Given the description of an element on the screen output the (x, y) to click on. 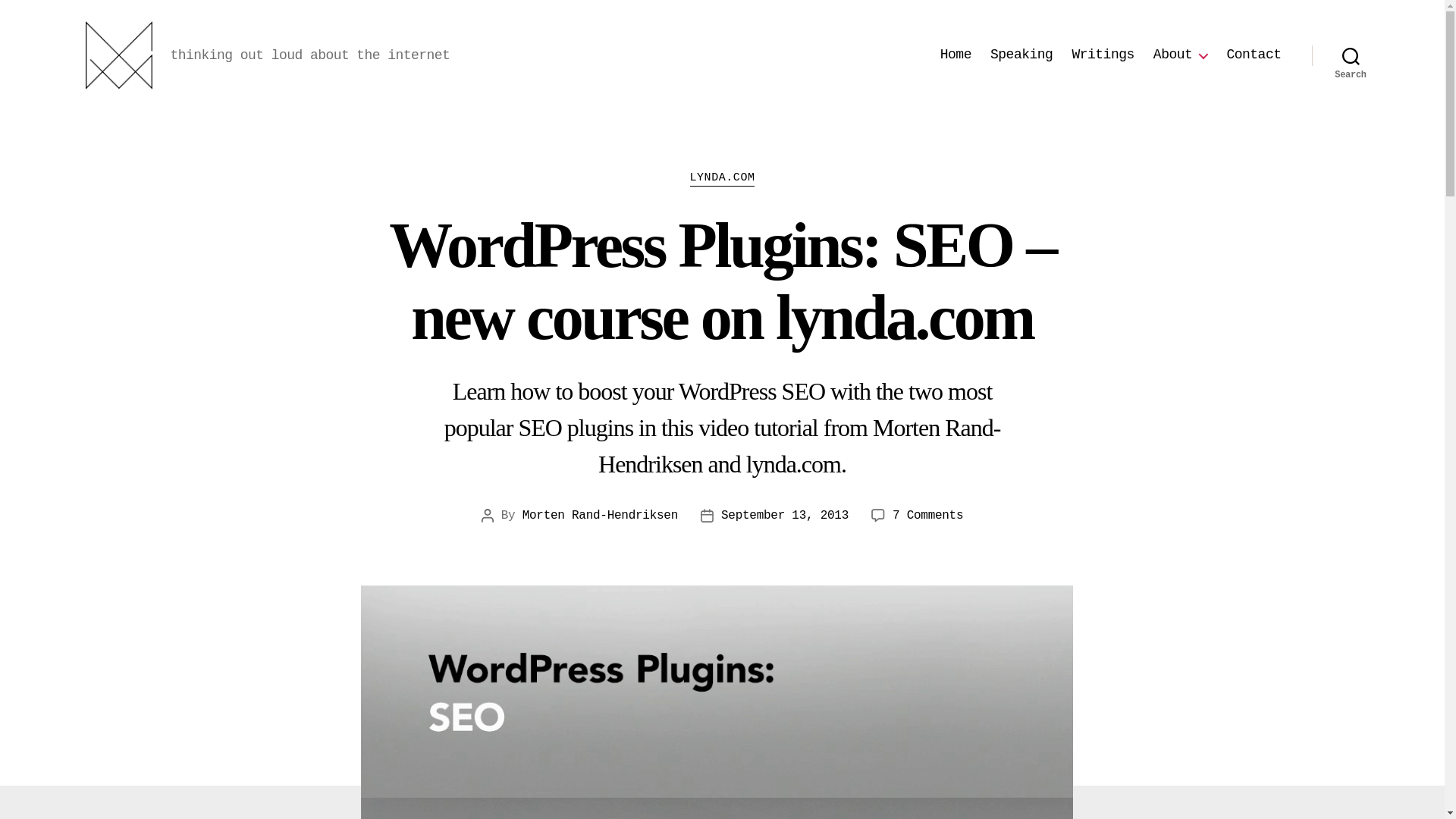
Contact (1253, 54)
Speaking (1021, 54)
Search (1350, 55)
September 13, 2013 (784, 515)
Writings (1102, 54)
Home (955, 54)
Morten Rand-Hendriksen (600, 515)
LYNDA.COM (722, 178)
Contact Morten Rand-Hendriksen (1253, 54)
About Design is Philosophy (1180, 54)
